Given the description of an element on the screen output the (x, y) to click on. 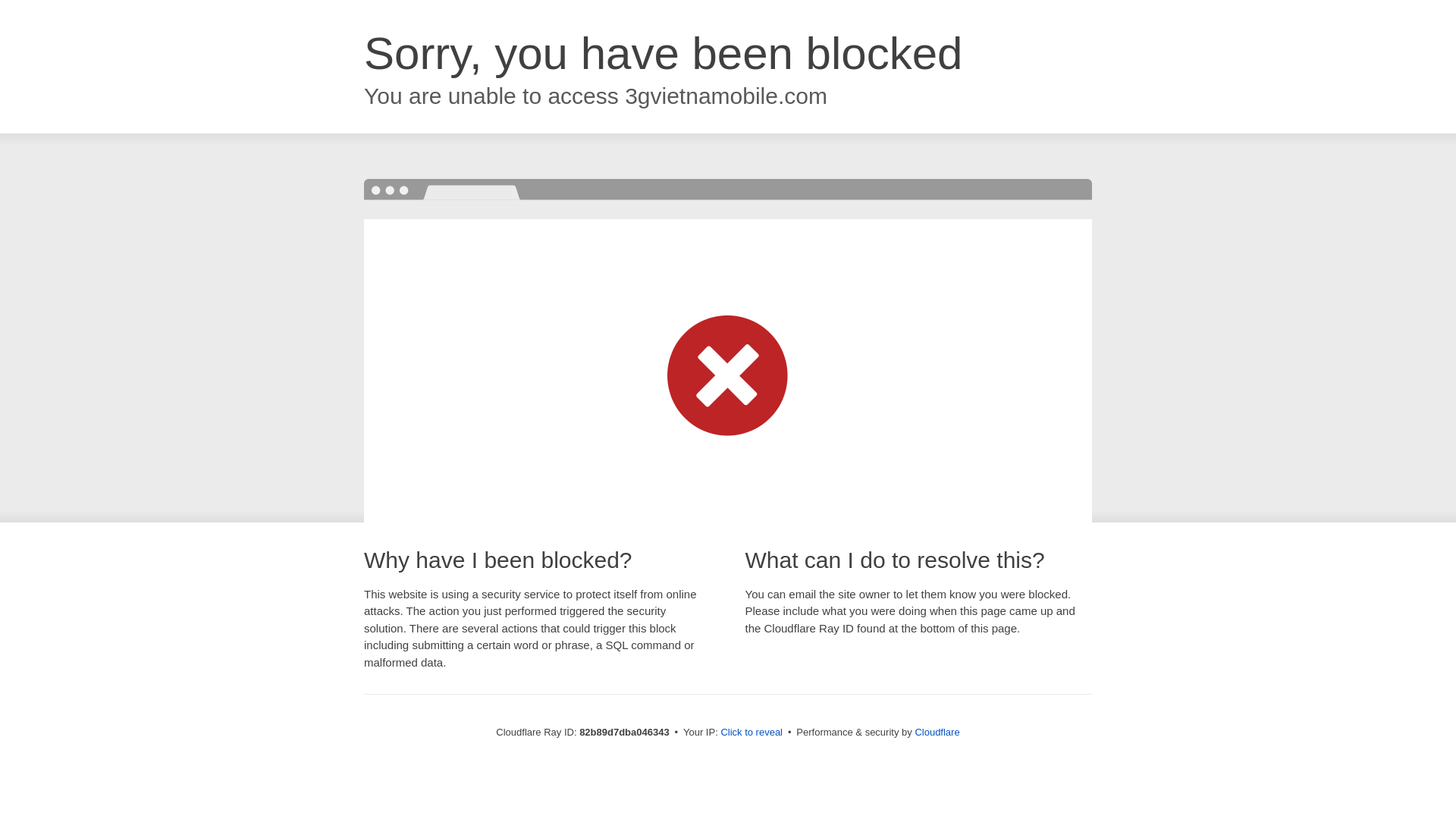
Click to reveal Element type: text (751, 732)
Cloudflare Element type: text (936, 731)
